Given the description of an element on the screen output the (x, y) to click on. 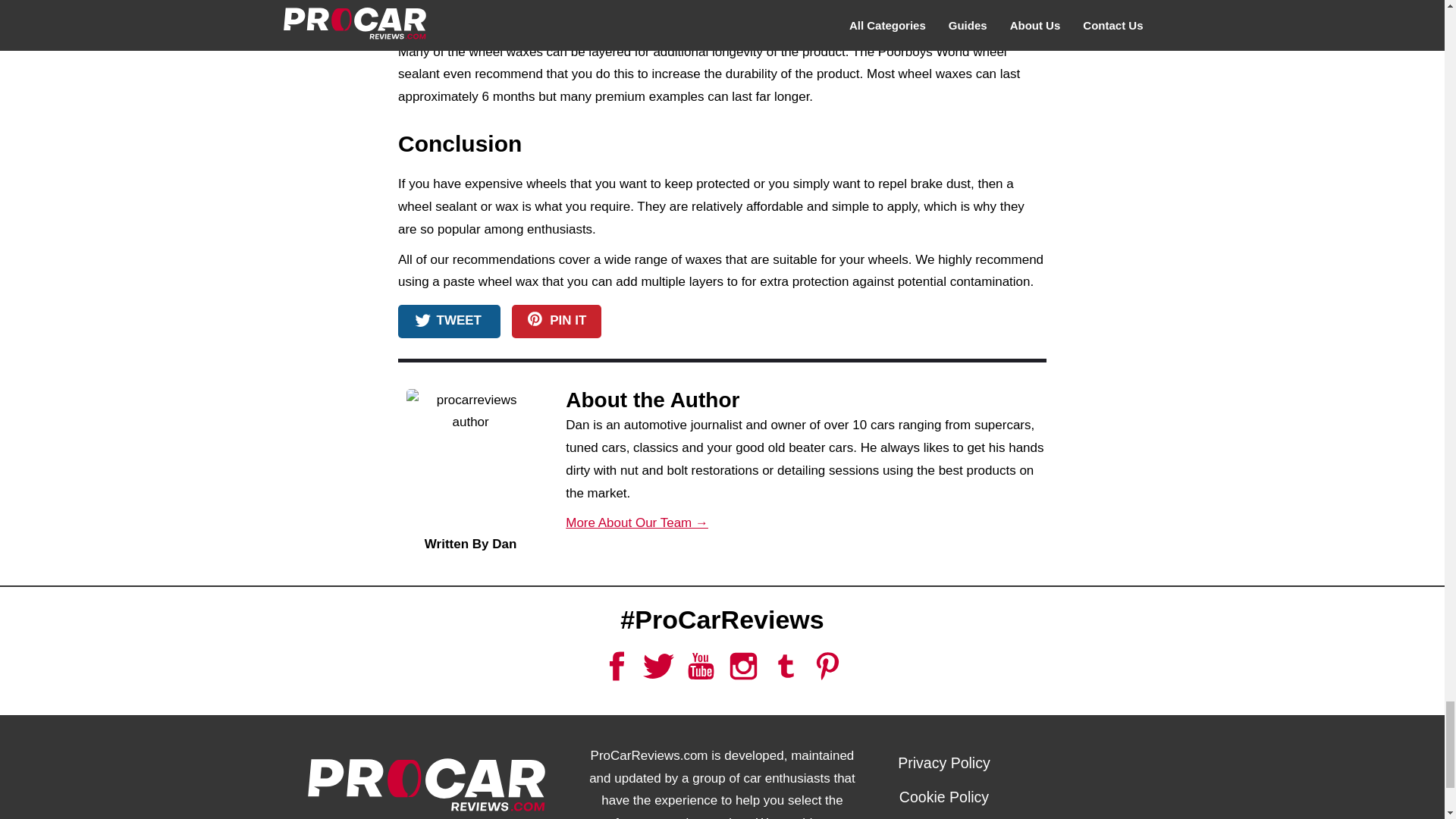
PIN IT (557, 321)
TWEET (448, 321)
Privacy Policy (944, 762)
Dan at ProCarReviews (470, 461)
Cookie Policy (943, 796)
